Given the description of an element on the screen output the (x, y) to click on. 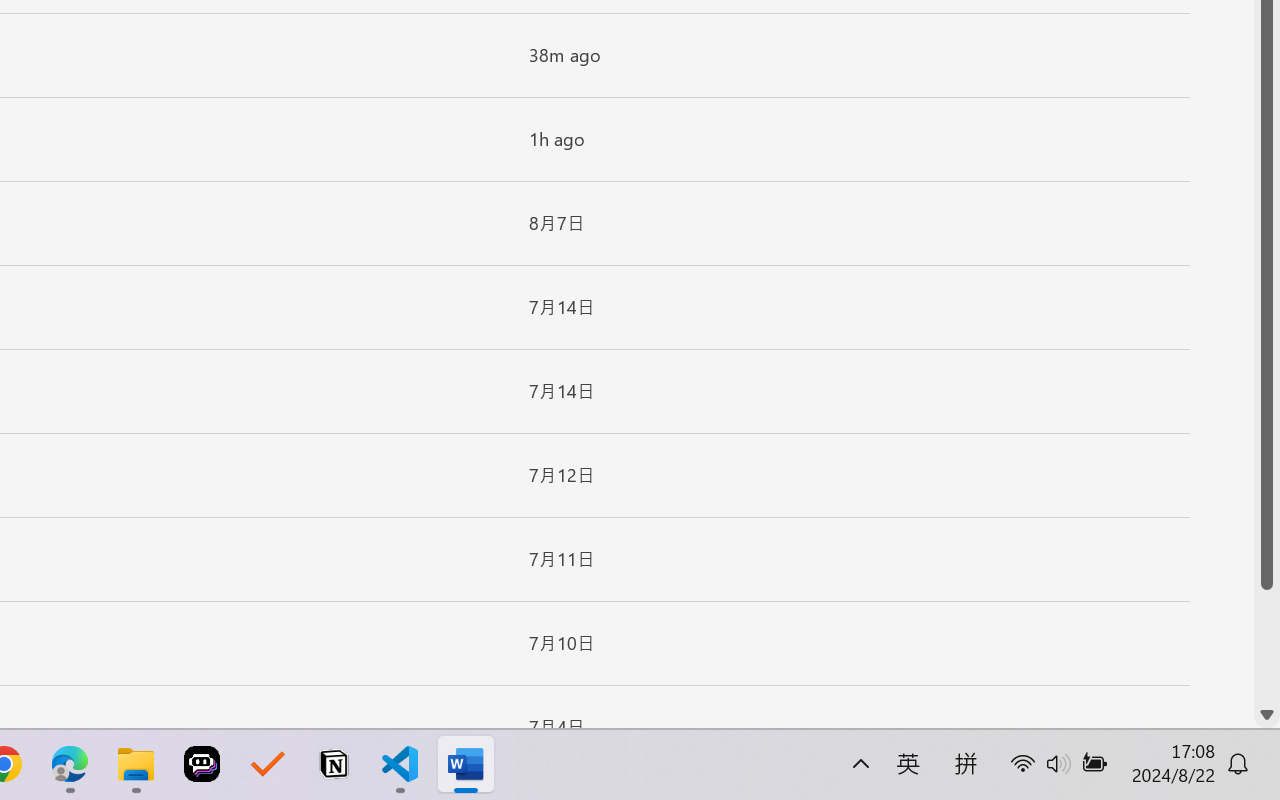
Record your presentations screenshot one (1052, 526)
Date (194, 224)
Zoom 50% (1236, 743)
Record button in top bar (1049, 334)
